Given the description of an element on the screen output the (x, y) to click on. 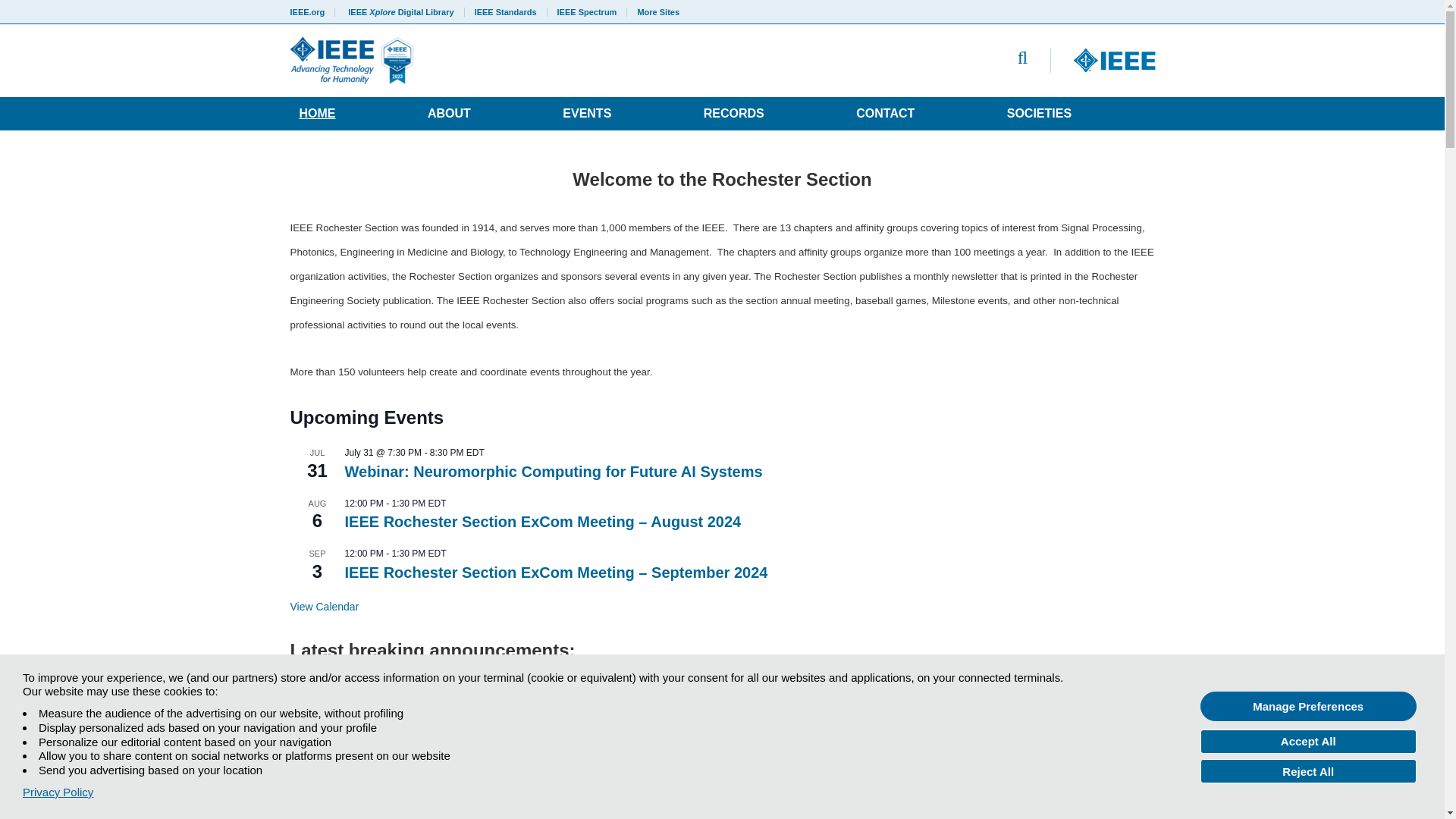
CONTACT (885, 113)
IEEE Spectrum (587, 11)
IEEE.org (311, 11)
Webinar: Neuromorphic Computing for Future AI Systems (552, 471)
RECORDS (733, 113)
IEEE Standards (505, 11)
IEEE Xplore Digital Library (400, 11)
More Sites (653, 11)
Rochester Section (536, 60)
View more events. (323, 606)
ABOUT (449, 113)
Privacy Policy (58, 792)
Manage Preferences (1307, 706)
EVENTS (586, 113)
Accept All (1307, 741)
